Given the description of an element on the screen output the (x, y) to click on. 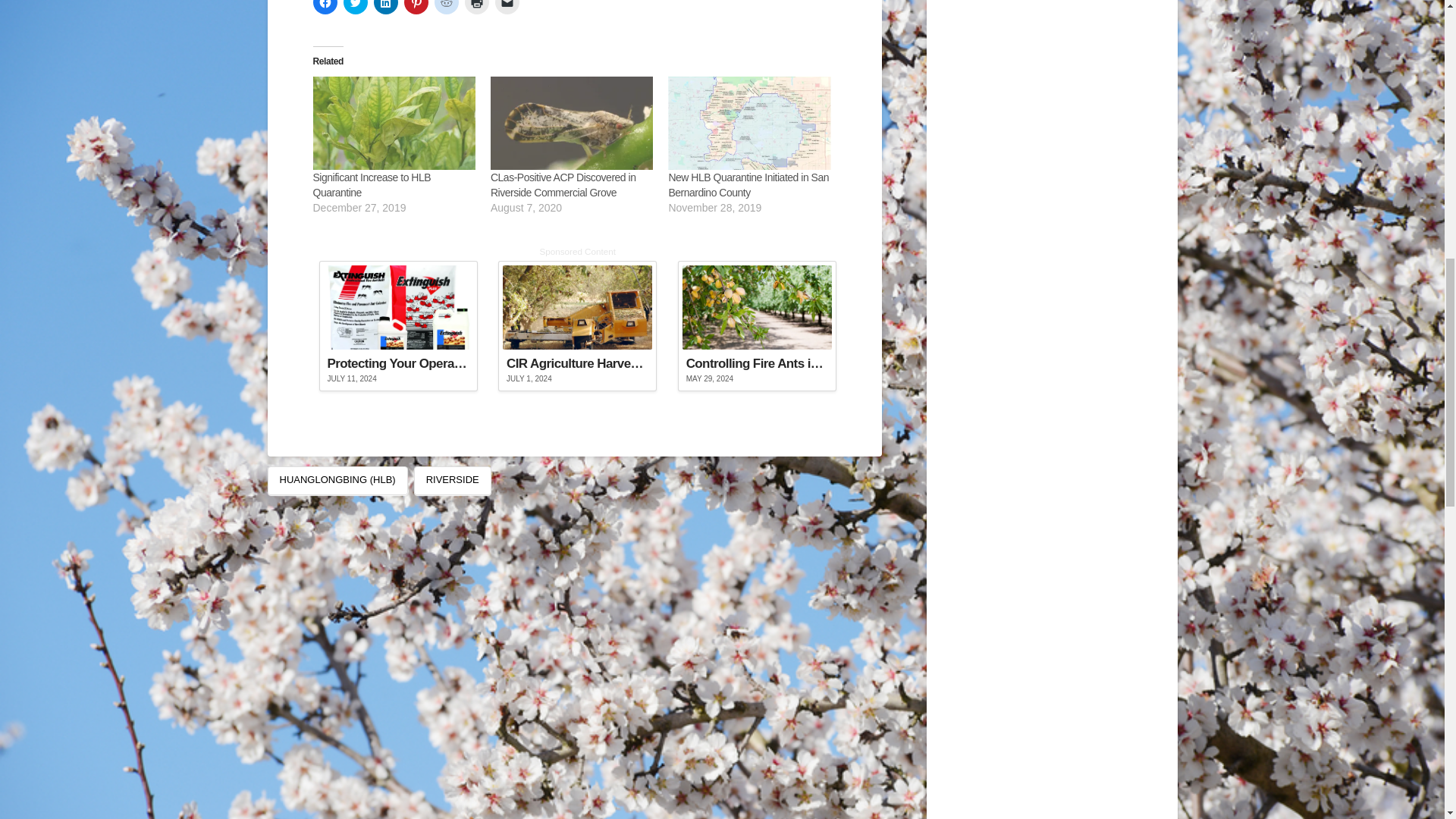
Click to share on Facebook (324, 7)
Significant Increase to HLB Quarantine (371, 185)
Click to share on Reddit (445, 7)
Click to email a link to a friend (506, 7)
CLas-Positive ACP Discovered in Riverside Commercial Grove (563, 185)
Click to print (475, 7)
Click to share on Twitter (354, 7)
CLas-Positive ACP Discovered in Riverside Commercial Grove (571, 122)
Significant Increase to HLB Quarantine (393, 122)
Click to share on LinkedIn (384, 7)
Click to share on Pinterest (415, 7)
